Given the description of an element on the screen output the (x, y) to click on. 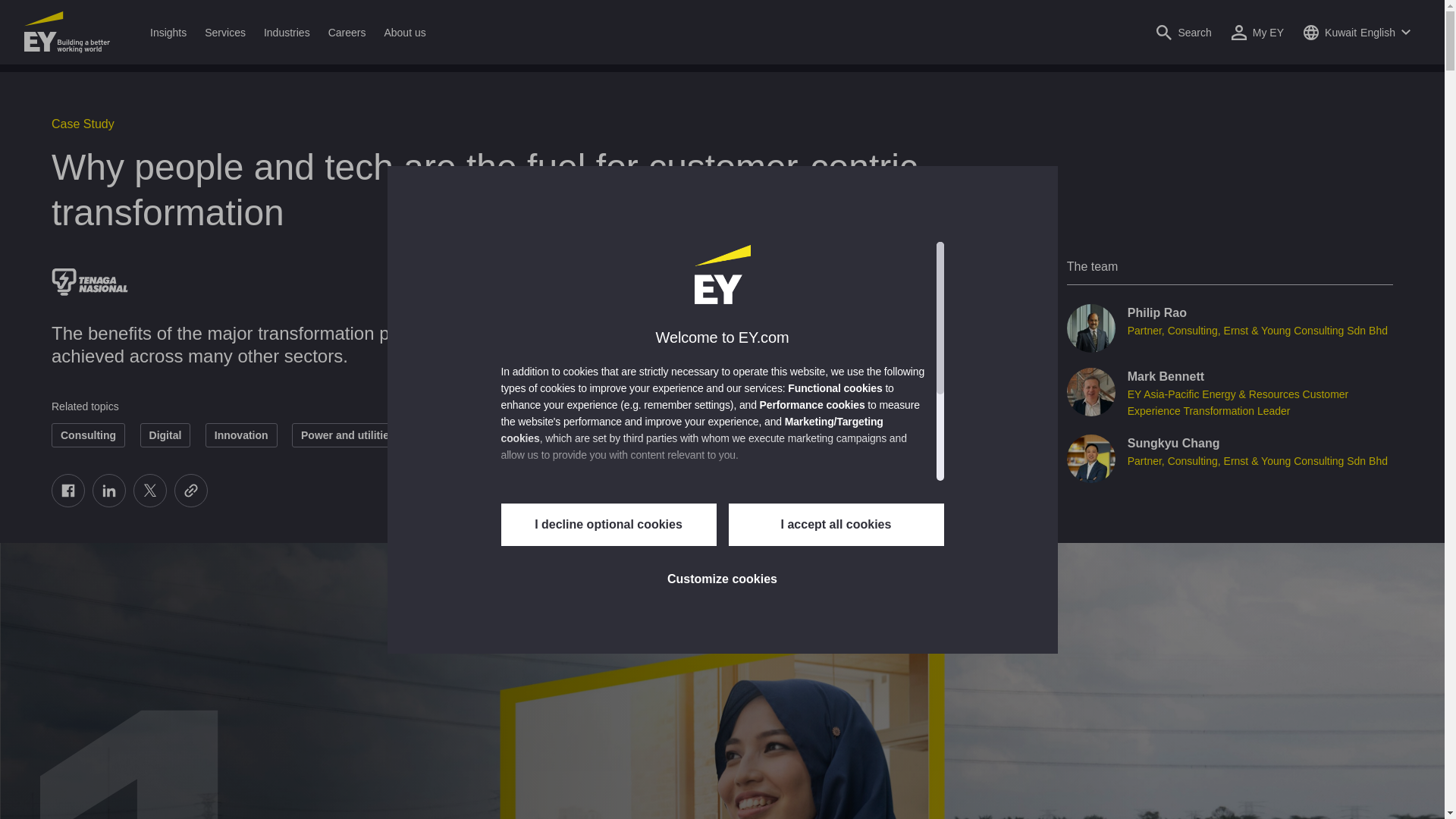
My EY (1257, 32)
Linkedin (109, 490)
Open search (1183, 32)
EY Homepage (67, 32)
Open country language switcher (1356, 32)
Social Media Share (129, 490)
Facebook (67, 490)
Copy link (191, 490)
Tenaga National Berhad Logo (89, 281)
